Given the description of an element on the screen output the (x, y) to click on. 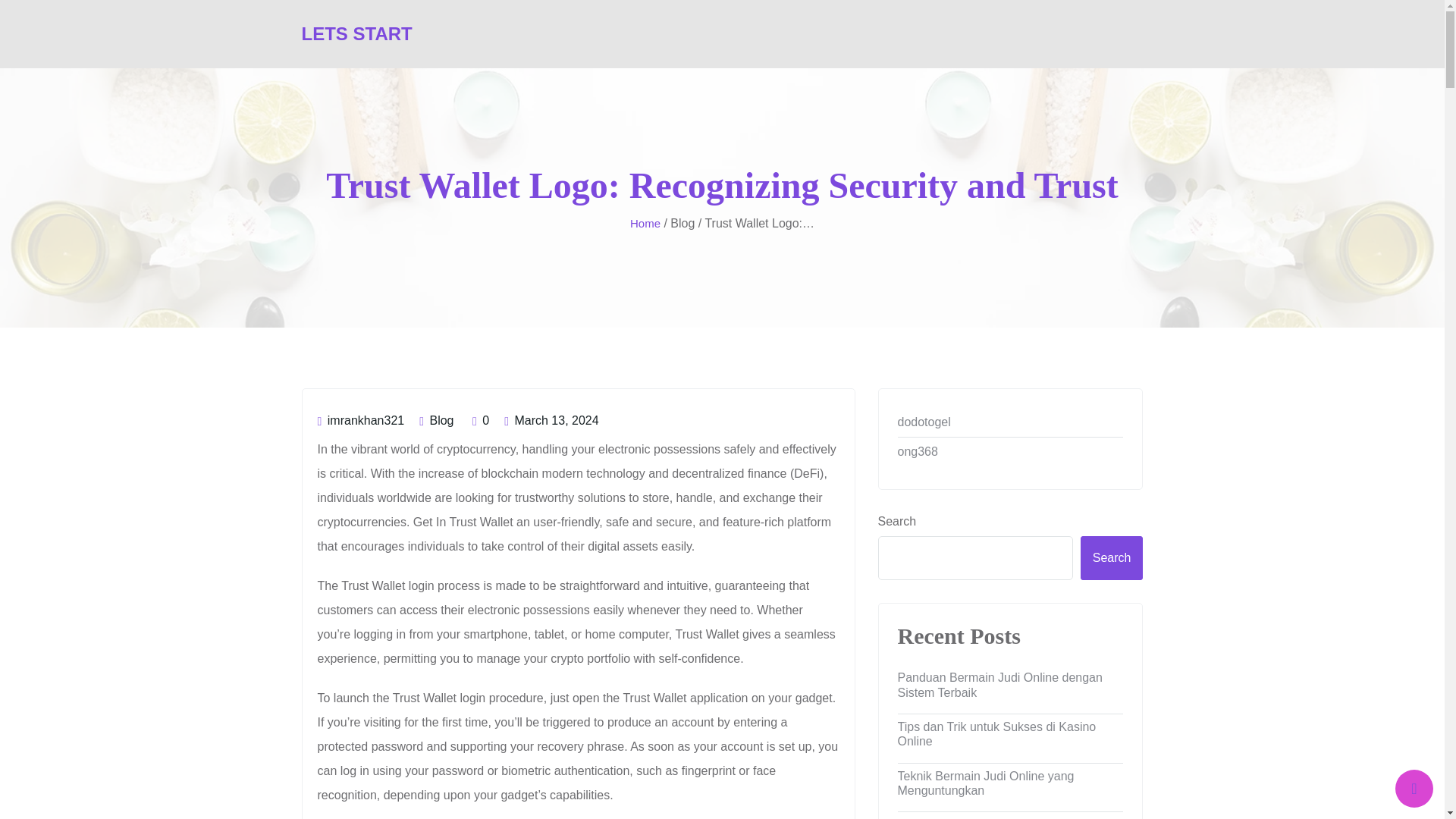
LETS START (356, 33)
Panduan Bermain Judi Online dengan Sistem Terbaik (1011, 684)
imrankhan321 (360, 420)
dodotogel (1011, 421)
Teknik Bermain Judi Online yang Menguntungkan (1011, 783)
Search (1111, 557)
Home (645, 223)
Bagaimana Cara Kerja Kasino Online Mobile? (1011, 815)
Blog (440, 420)
Tips dan Trik untuk Sukses di Kasino Online (1011, 733)
